Given the description of an element on the screen output the (x, y) to click on. 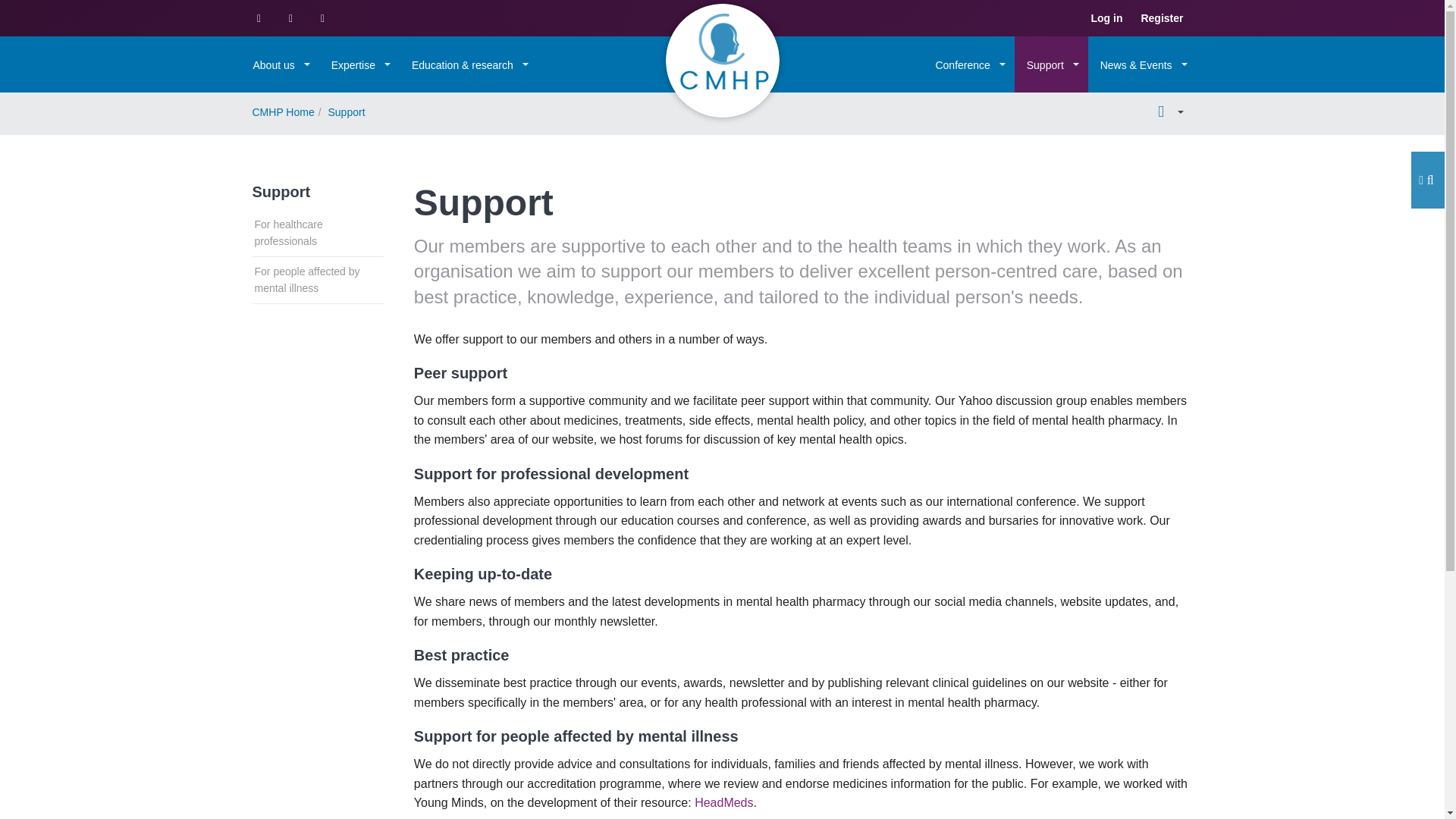
Log in (1106, 18)
Expertise (358, 64)
About us (279, 64)
Register (1161, 18)
Expertise (358, 64)
About us (279, 64)
